Given the description of an element on the screen output the (x, y) to click on. 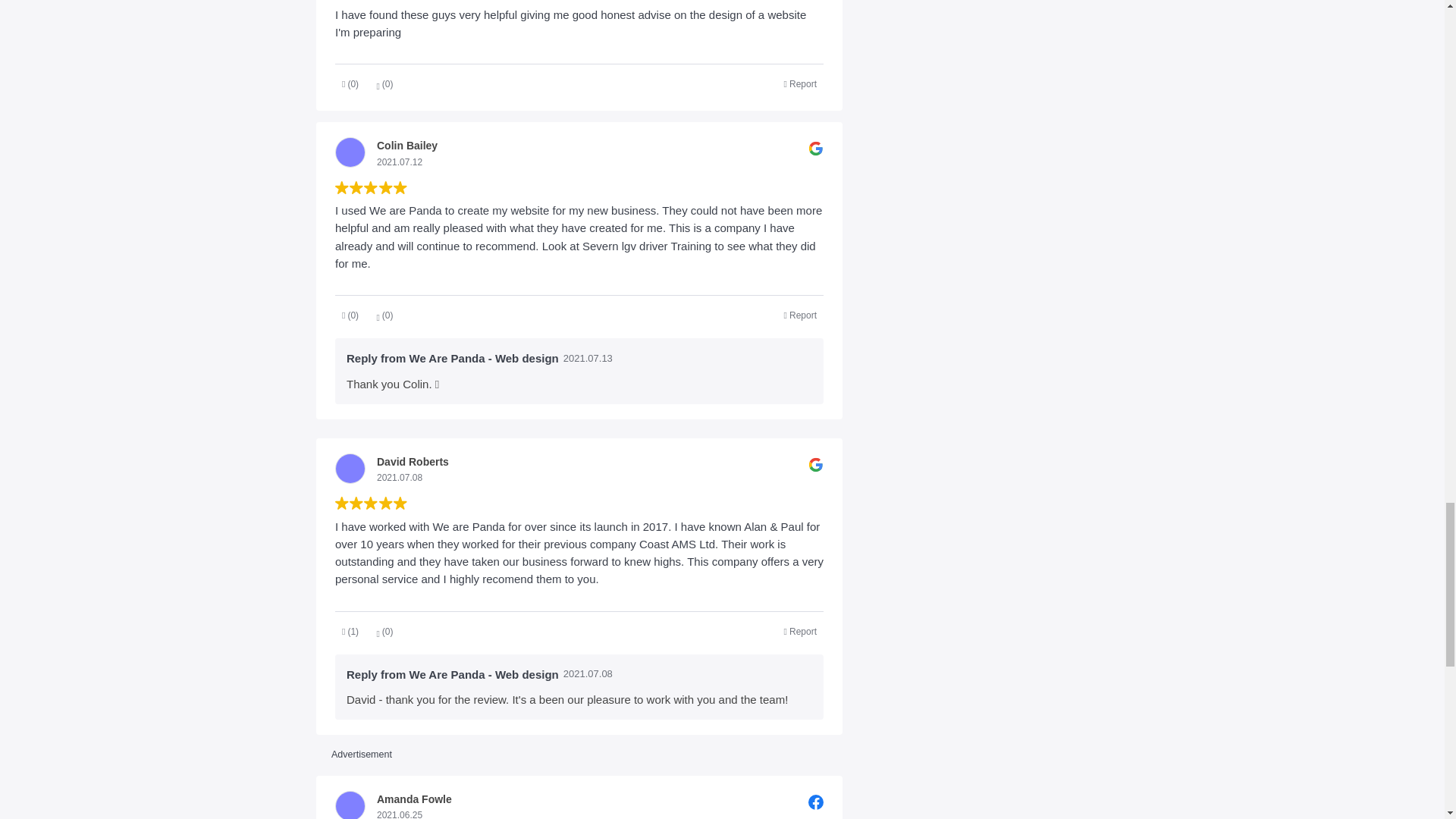
Report (800, 84)
Report (800, 630)
Report (800, 315)
